Given the description of an element on the screen output the (x, y) to click on. 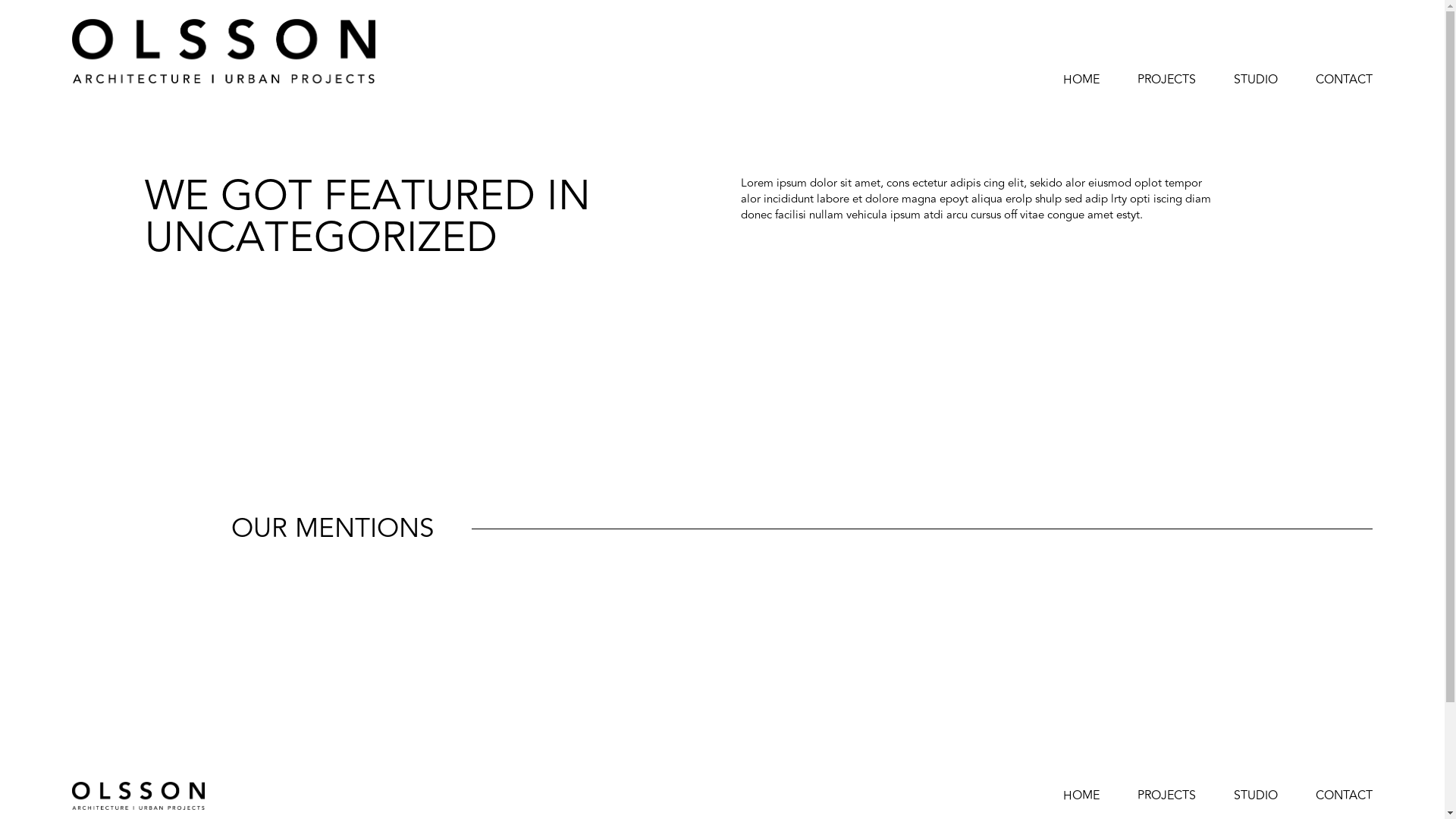
CONTACT Element type: text (1343, 79)
CONTACT Element type: text (1343, 795)
HOME Element type: text (1081, 79)
STUDIO Element type: text (1255, 795)
PROJECTS Element type: text (1166, 795)
HOME Element type: text (1081, 795)
STUDIO Element type: text (1255, 79)
PROJECTS Element type: text (1166, 79)
